Given the description of an element on the screen output the (x, y) to click on. 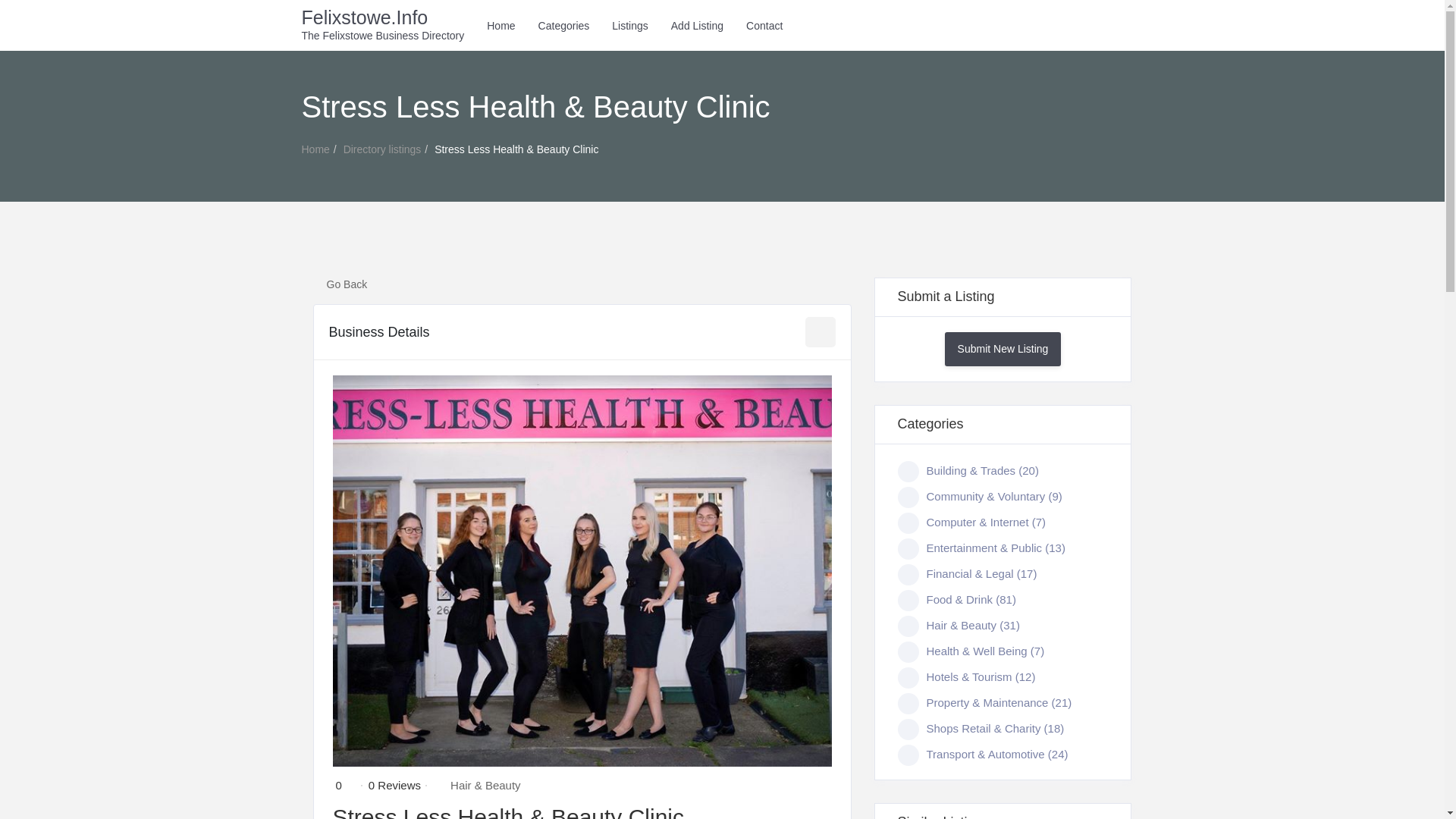
Home (500, 25)
Categories (564, 25)
Contact (764, 25)
Go Back (339, 284)
Categories (564, 25)
Directory listings (382, 149)
Directory listings (382, 149)
Listings (629, 25)
Felixstowe.Info (382, 14)
Submit New Listing (1002, 349)
